Given the description of an element on the screen output the (x, y) to click on. 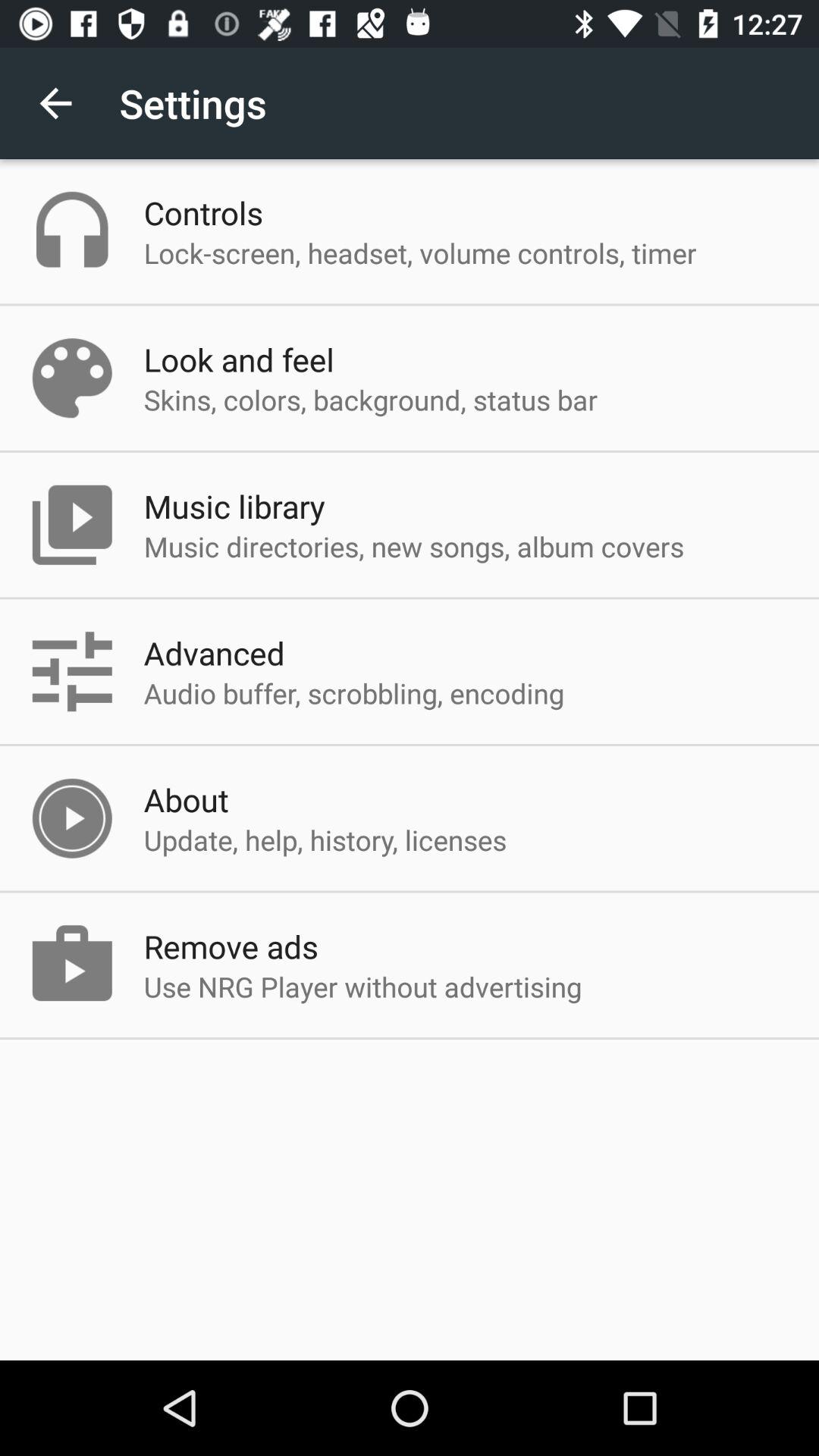
launch app to the left of settings (55, 103)
